Given the description of an element on the screen output the (x, y) to click on. 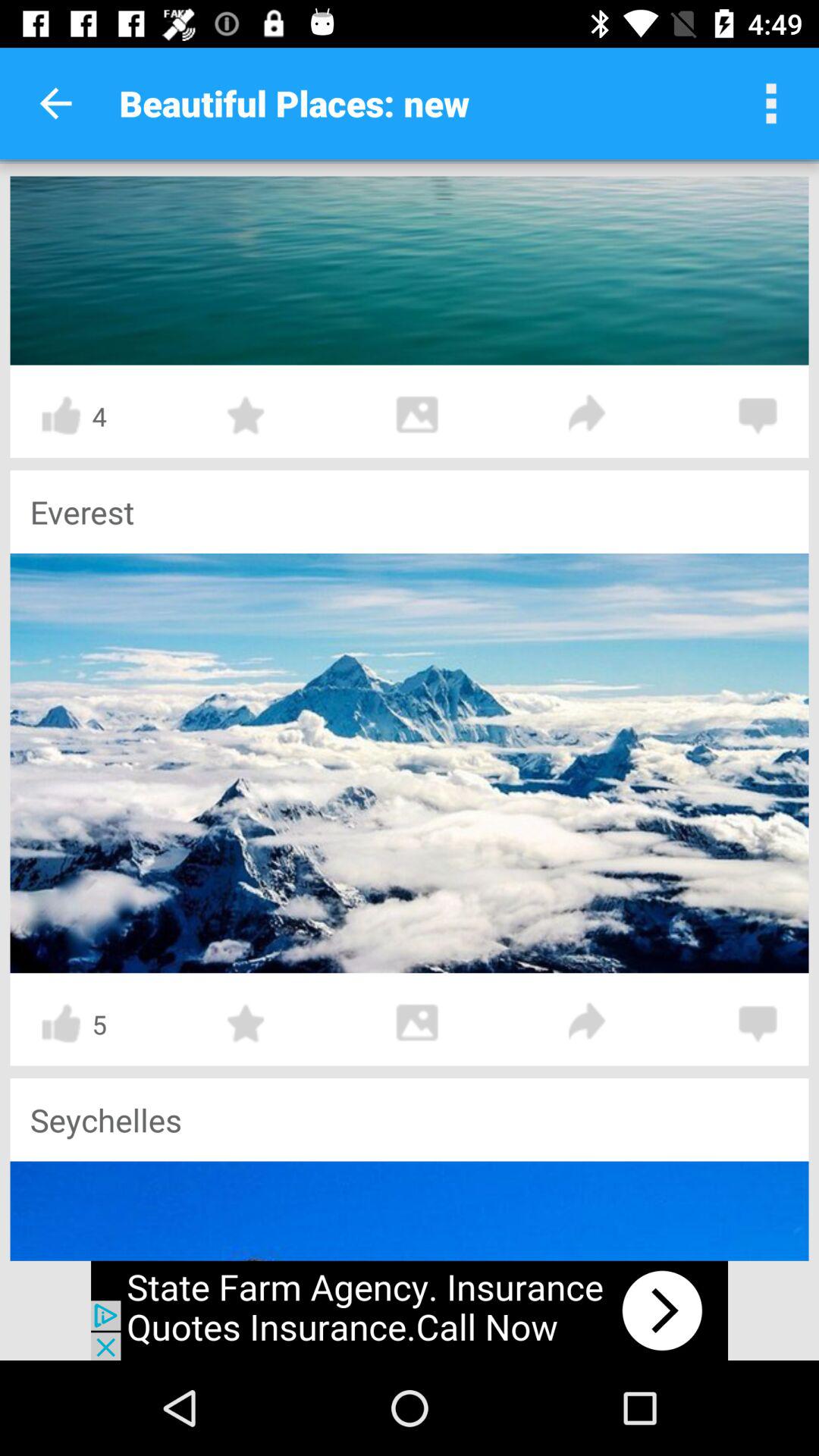
settings (771, 103)
